Given the description of an element on the screen output the (x, y) to click on. 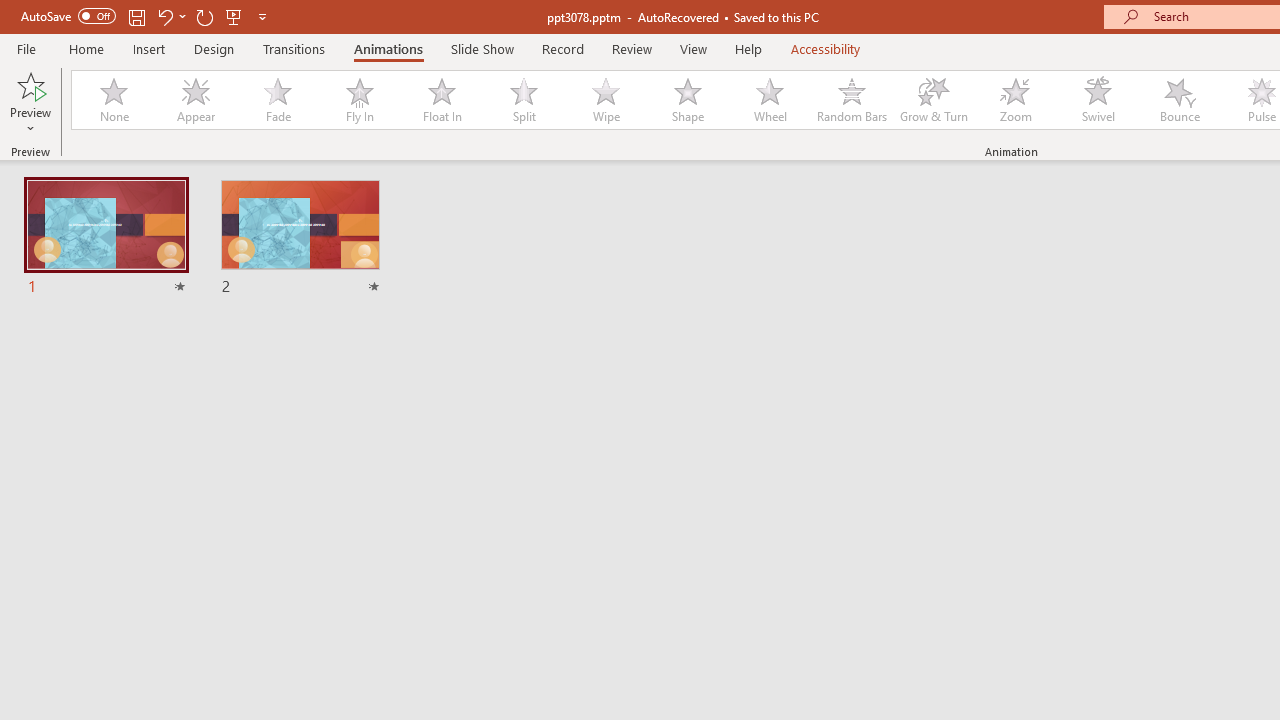
Grow & Turn (934, 100)
Review (631, 48)
Zoom (1016, 100)
Preview (30, 102)
System (10, 11)
Float In (441, 100)
Home (86, 48)
More Options (30, 121)
Shape (687, 100)
Customize Quick Access Toolbar (262, 15)
Appear (195, 100)
